Given the description of an element on the screen output the (x, y) to click on. 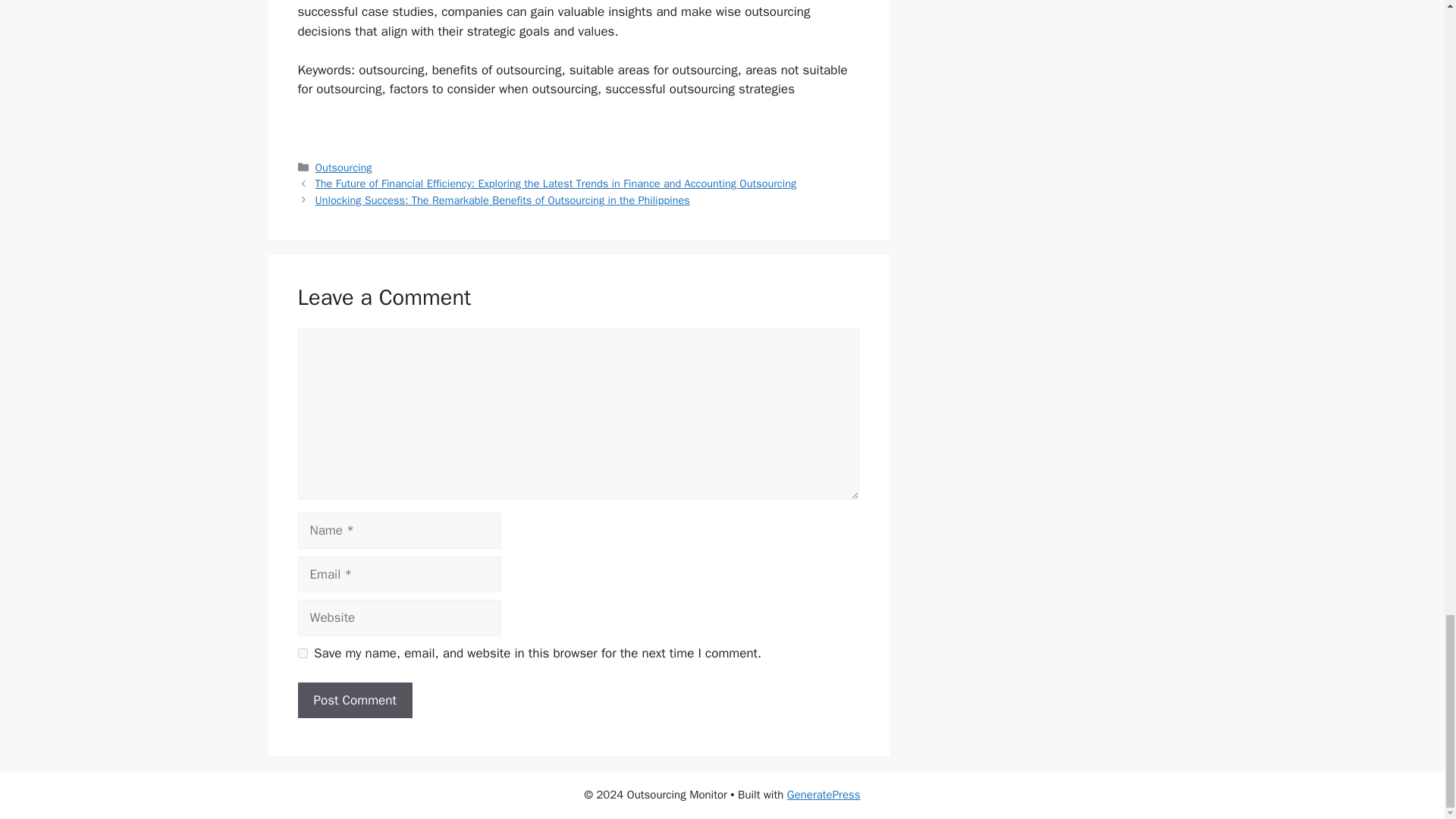
Outsourcing (343, 167)
Post Comment (354, 700)
yes (302, 653)
Post Comment (354, 700)
